Given the description of an element on the screen output the (x, y) to click on. 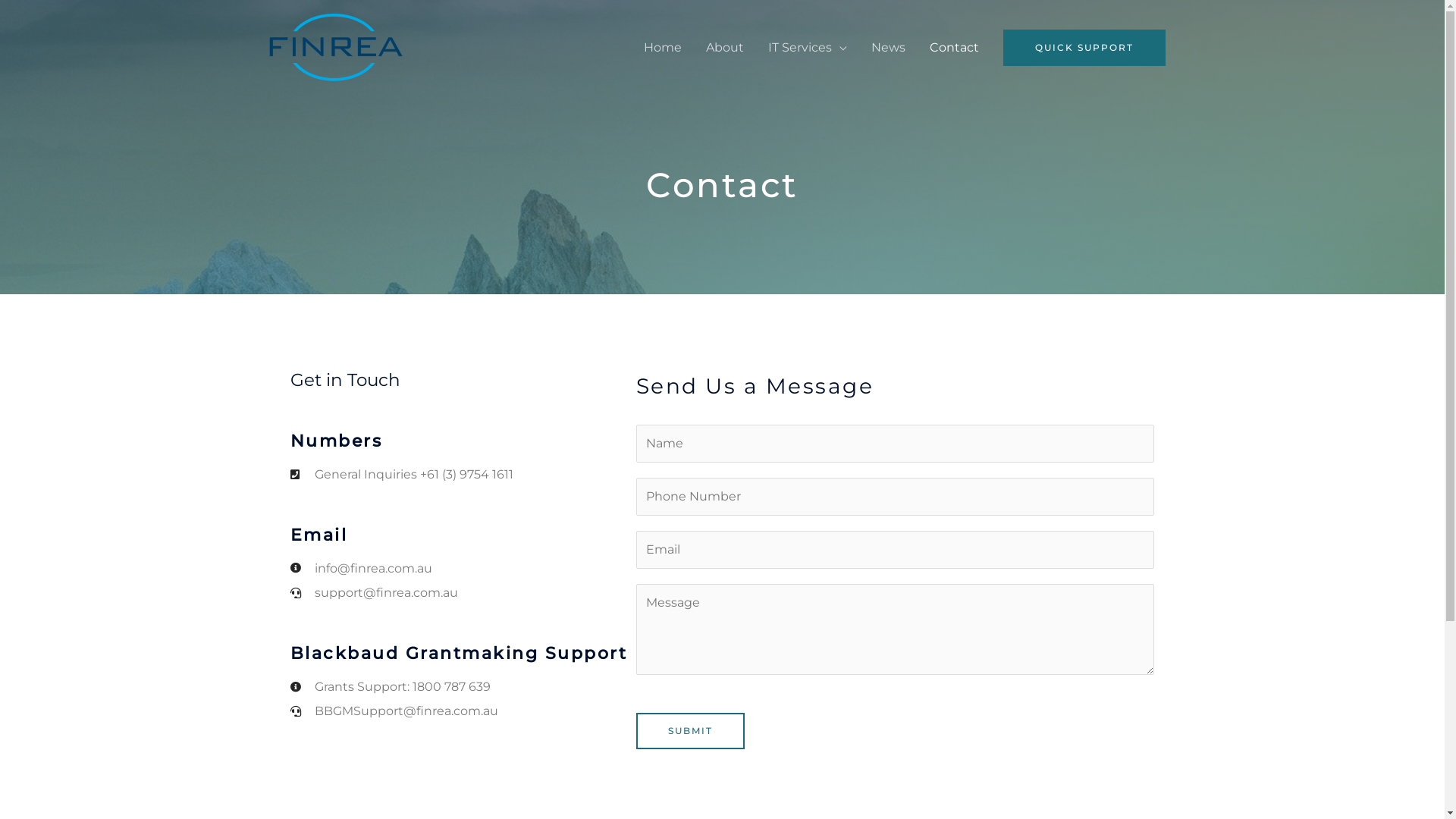
SUBMIT Element type: text (689, 730)
support@finrea.com.au Element type: text (462, 592)
IT Services Element type: text (806, 46)
General Inquiries +61 (3) 9754 1611 Element type: text (462, 474)
Home Element type: text (661, 46)
BBGMSupport@finrea.com.au Element type: text (462, 711)
Contact Element type: text (954, 46)
info@finrea.com.au Element type: text (462, 568)
QUICK SUPPORT Element type: text (1083, 46)
About Element type: text (724, 46)
News Element type: text (887, 46)
Grants Support: 1800 787 639 Element type: text (462, 686)
